Given the description of an element on the screen output the (x, y) to click on. 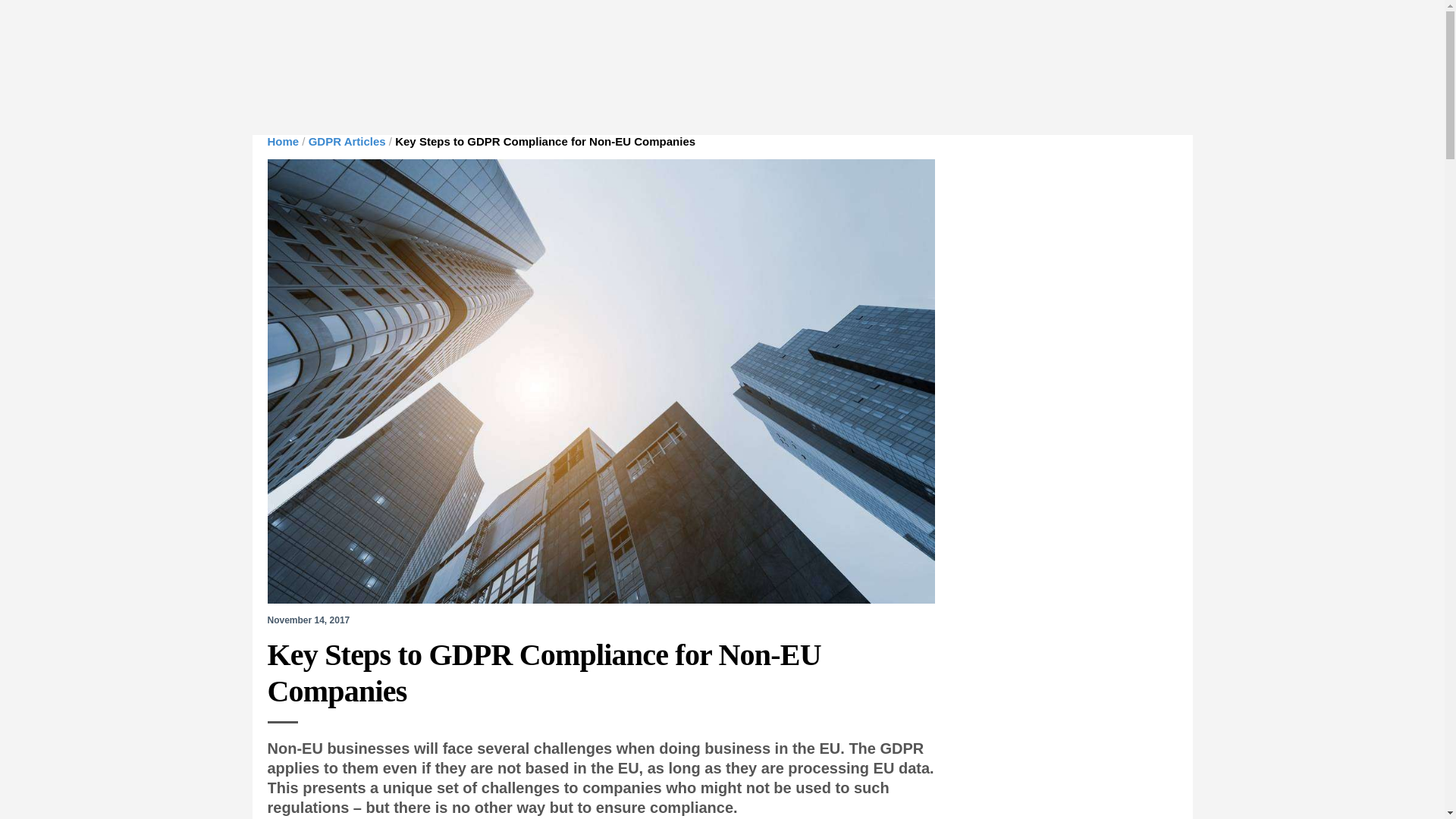
GDPR Articles (346, 141)
Home (282, 141)
